Given the description of an element on the screen output the (x, y) to click on. 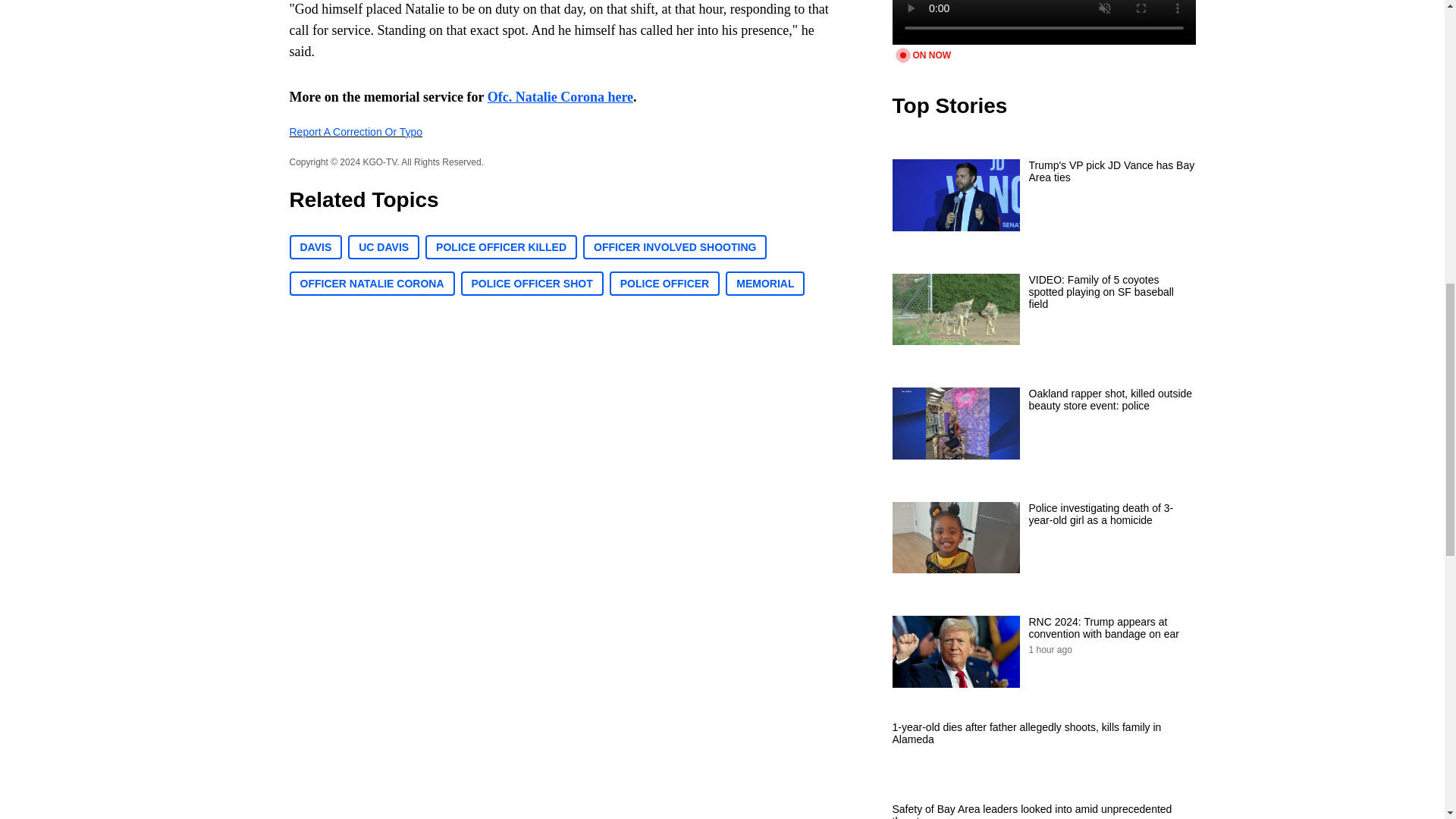
video.title (1043, 22)
